Given the description of an element on the screen output the (x, y) to click on. 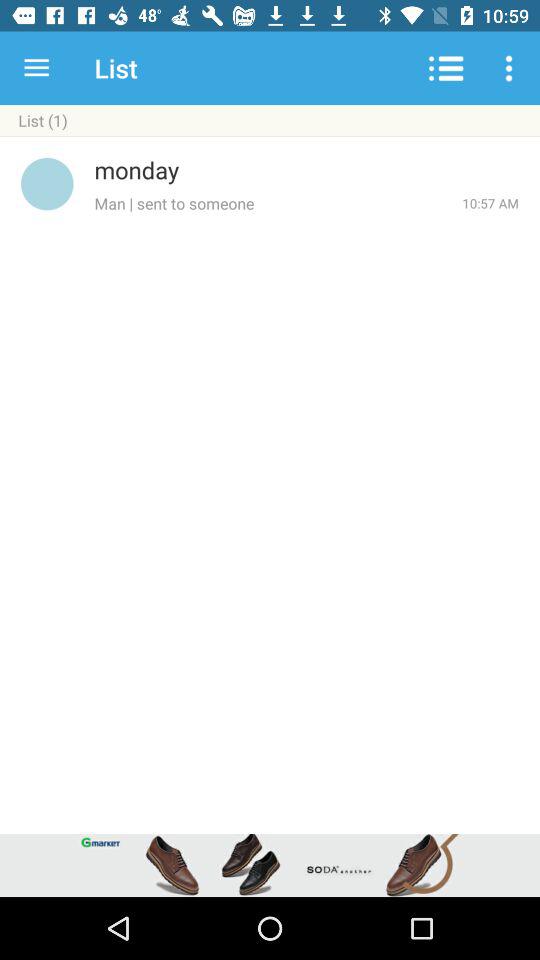
click the icon next to monday item (47, 183)
